Given the description of an element on the screen output the (x, y) to click on. 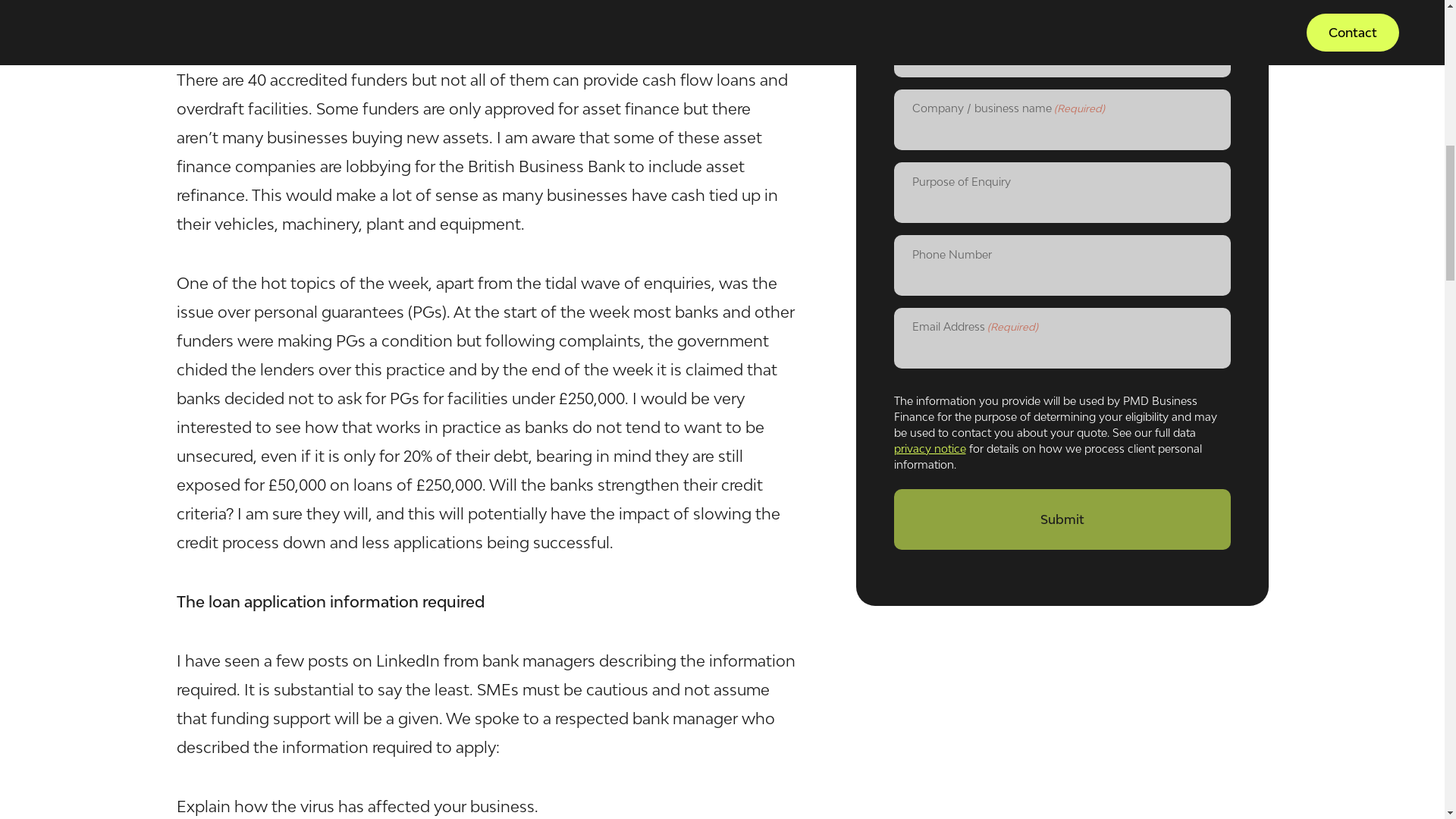
Submit (1061, 502)
